Given the description of an element on the screen output the (x, y) to click on. 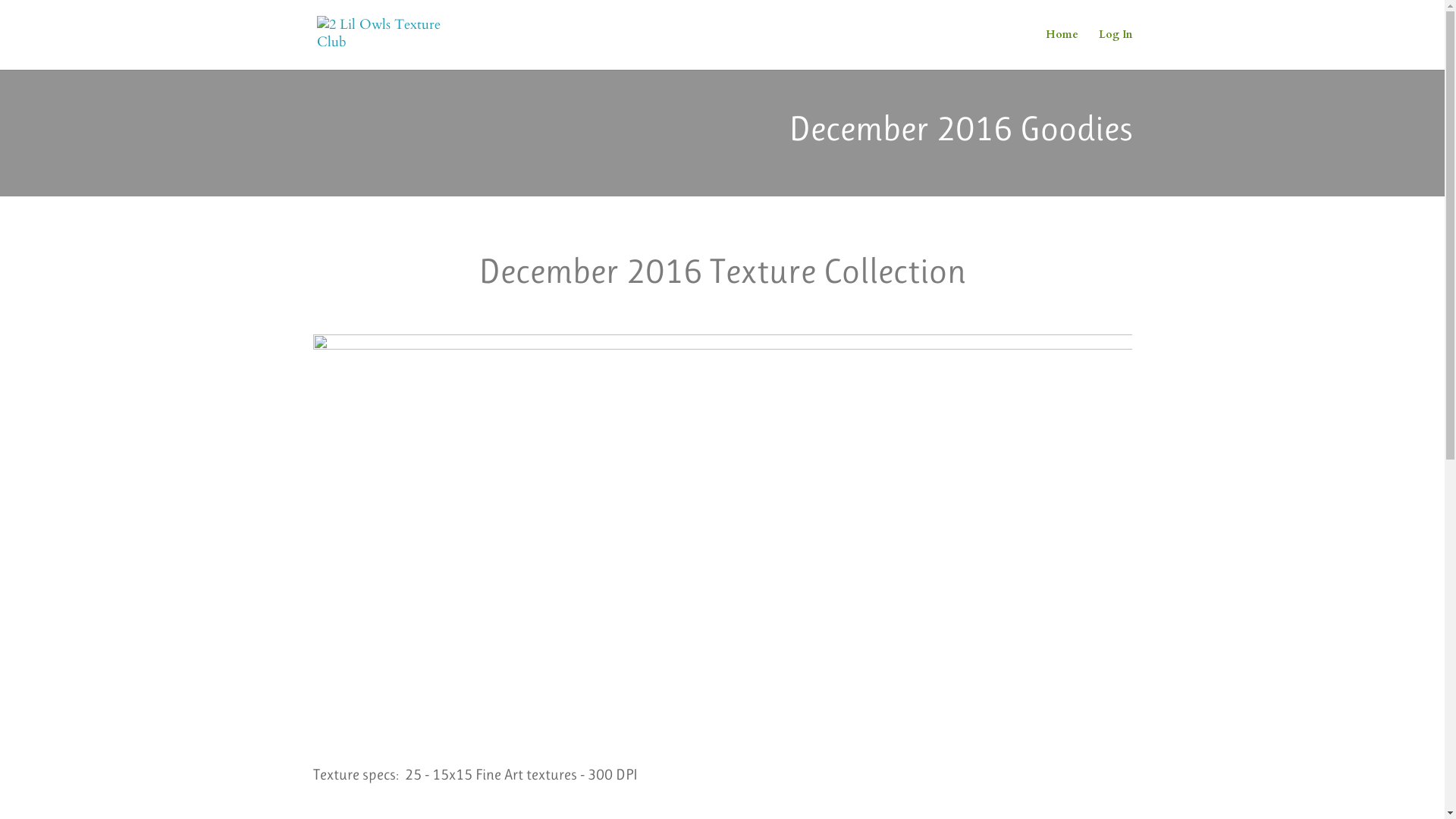
Log In Element type: text (1114, 49)
Home Element type: text (1060, 49)
